Given the description of an element on the screen output the (x, y) to click on. 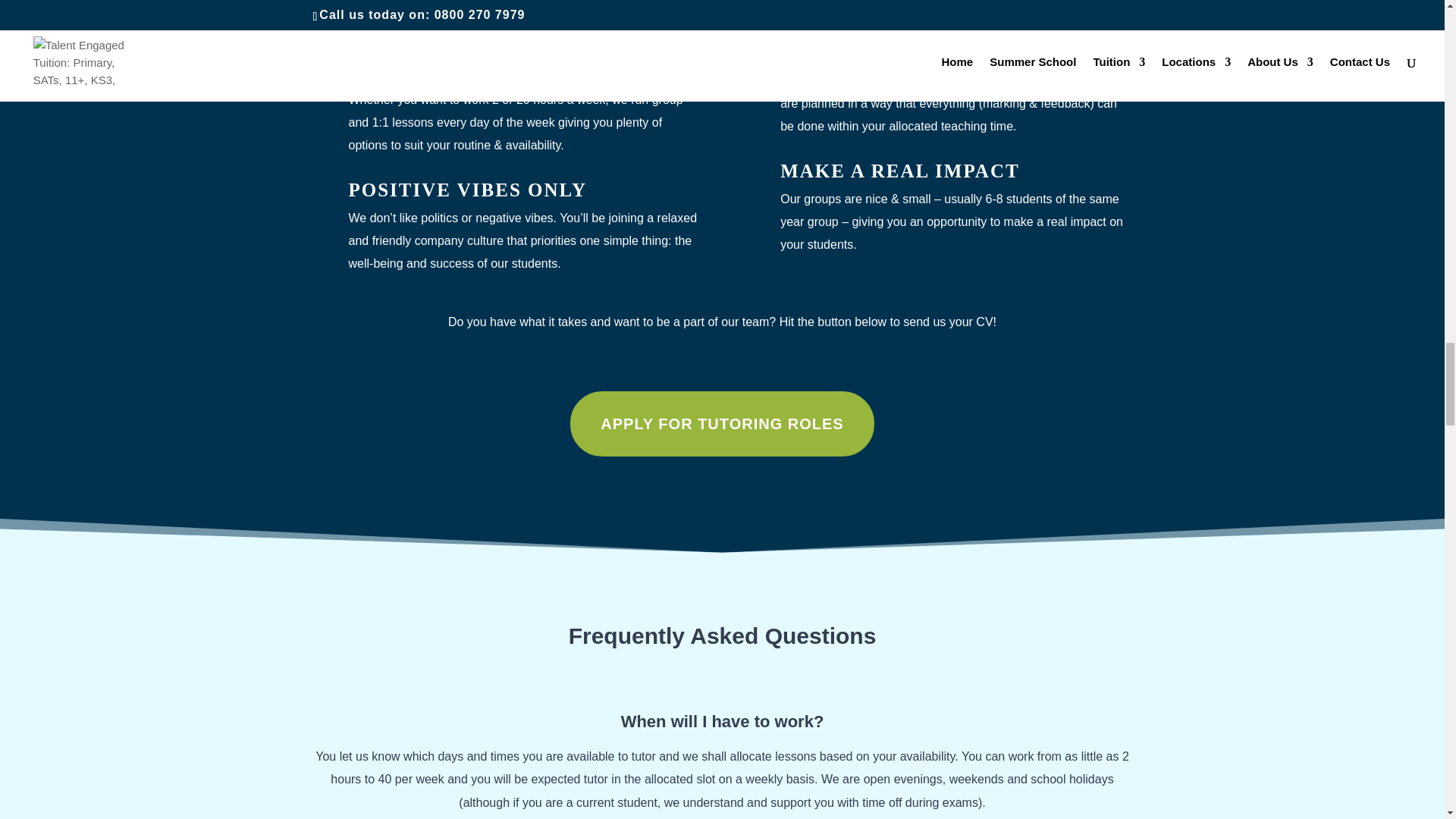
APPLY FOR TUTORING ROLES (721, 423)
